Given the description of an element on the screen output the (x, y) to click on. 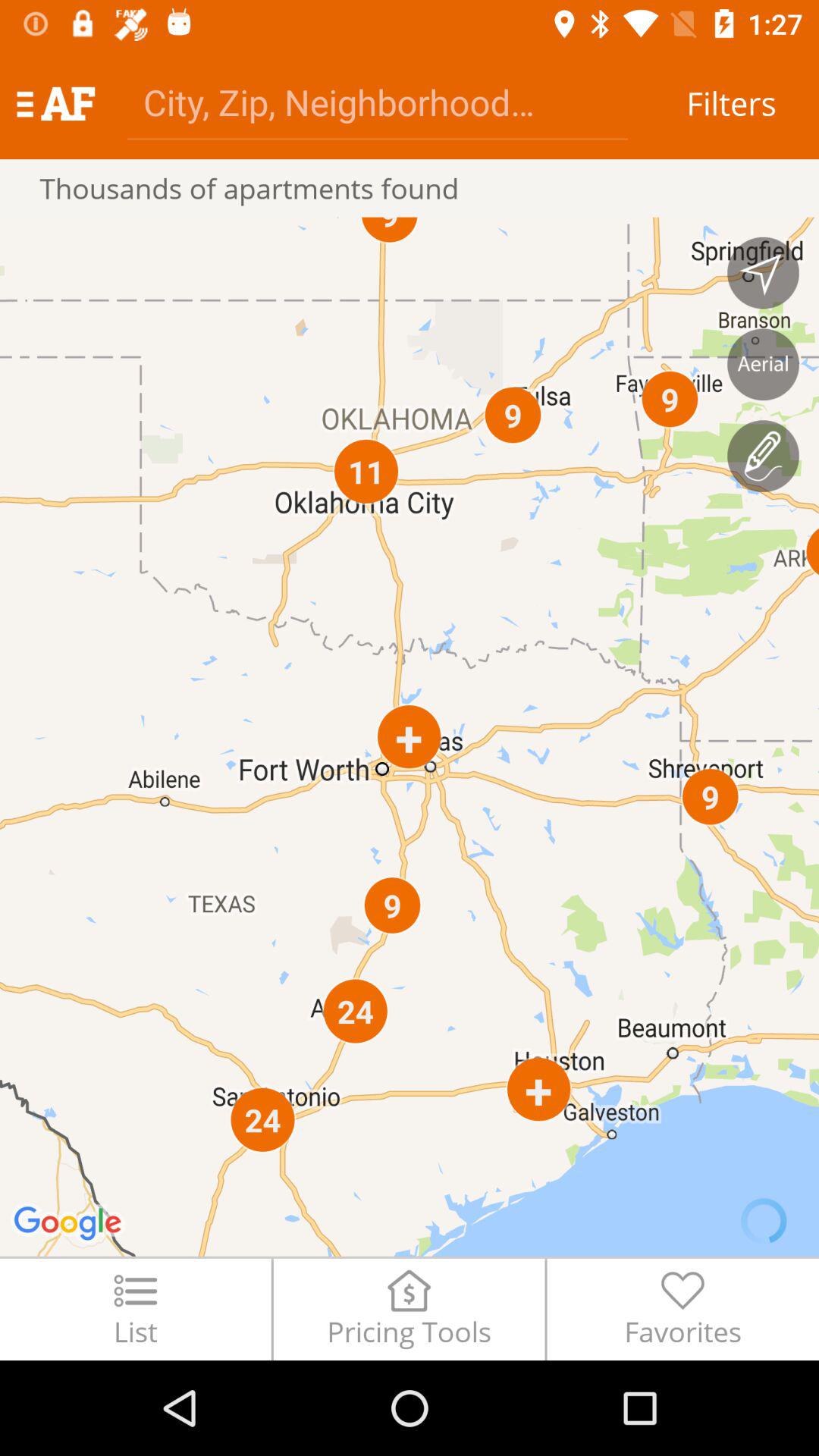
choose the icon below the thousands of apartments icon (409, 736)
